Given the description of an element on the screen output the (x, y) to click on. 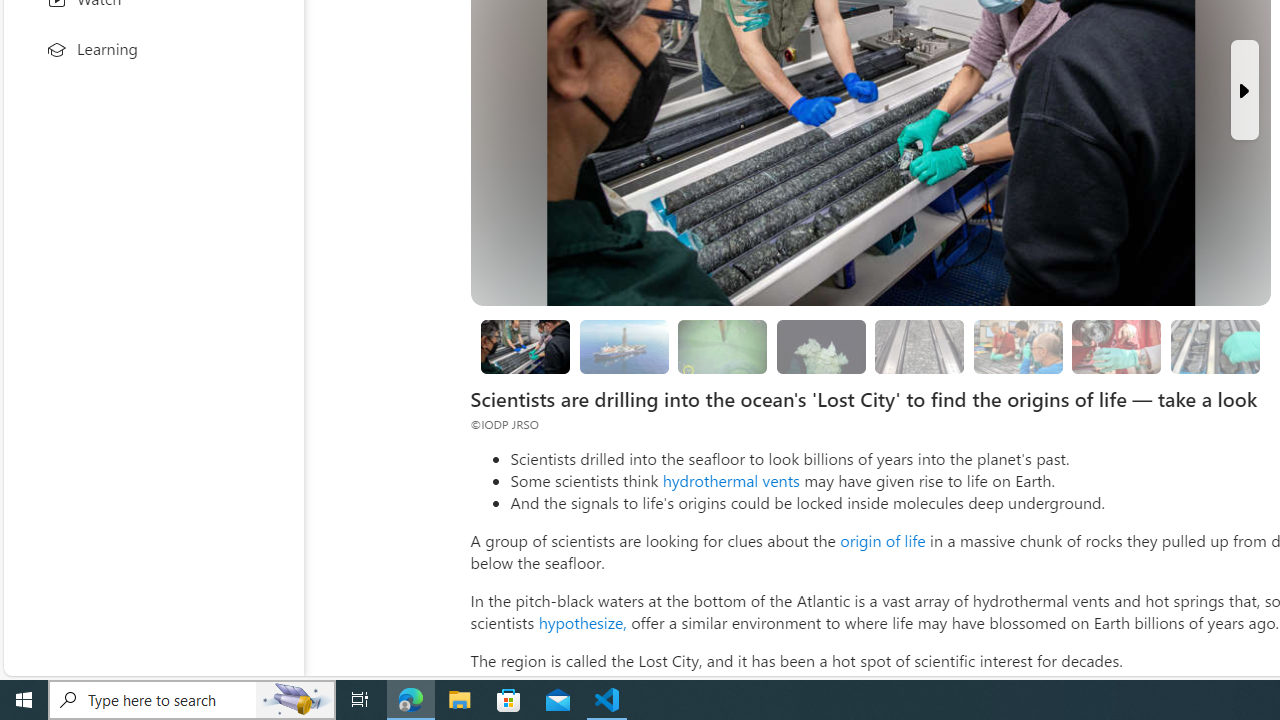
Looking for evidence of oxygen-free life (1017, 346)
Class: progress (1214, 343)
The Lost City could hold clues to the origin of life. (820, 346)
Researchers are still studying the samples (1214, 346)
hypothesize, (582, 622)
Looking for evidence of oxygen-free life (1017, 346)
Next Slide (1244, 89)
origin of life (882, 539)
